Given the description of an element on the screen output the (x, y) to click on. 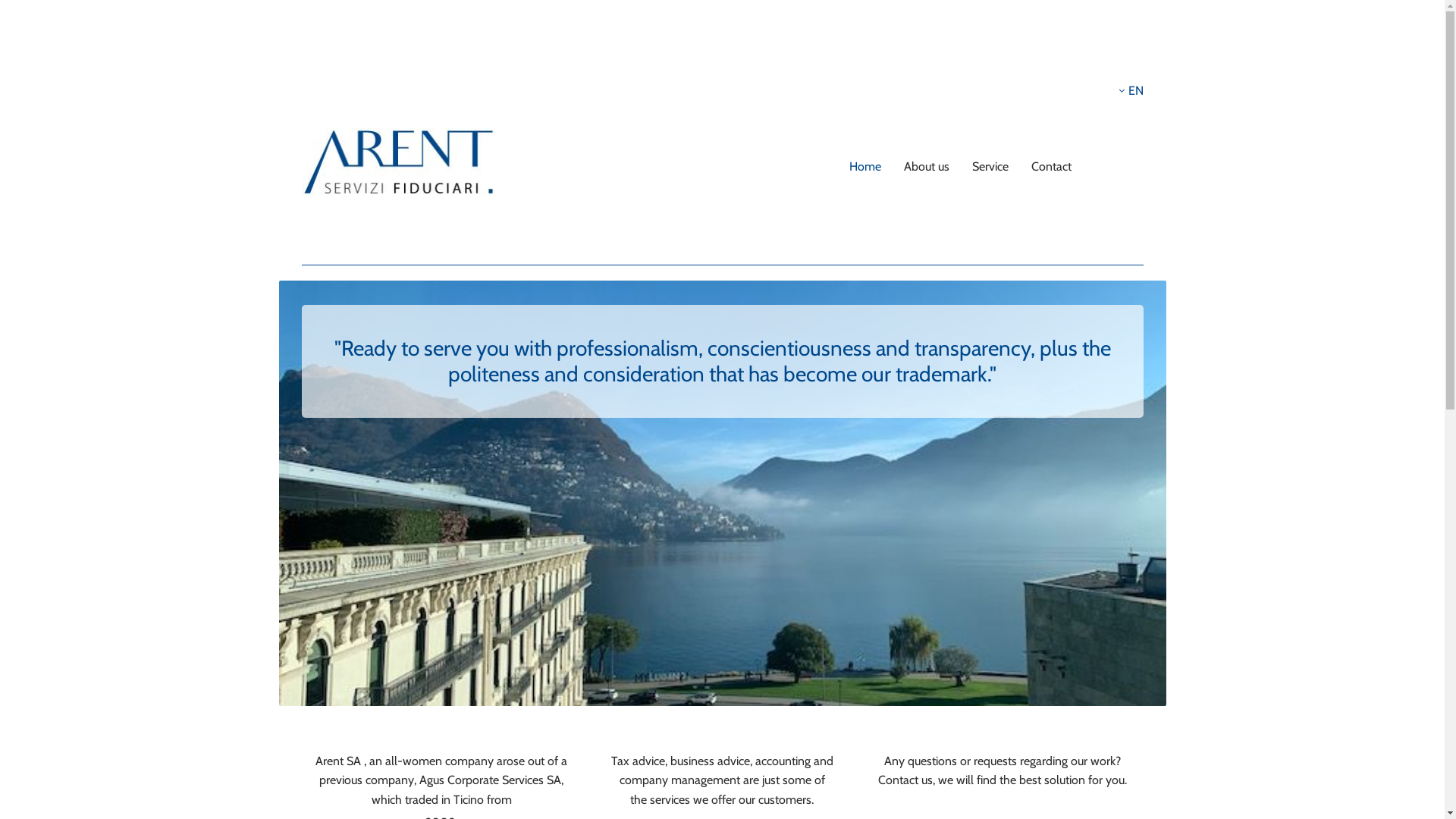
EN Element type: text (1129, 90)
Contact Element type: text (1051, 166)
Service Element type: text (990, 166)
About us Element type: text (926, 166)
Home Element type: text (865, 166)
